Given the description of an element on the screen output the (x, y) to click on. 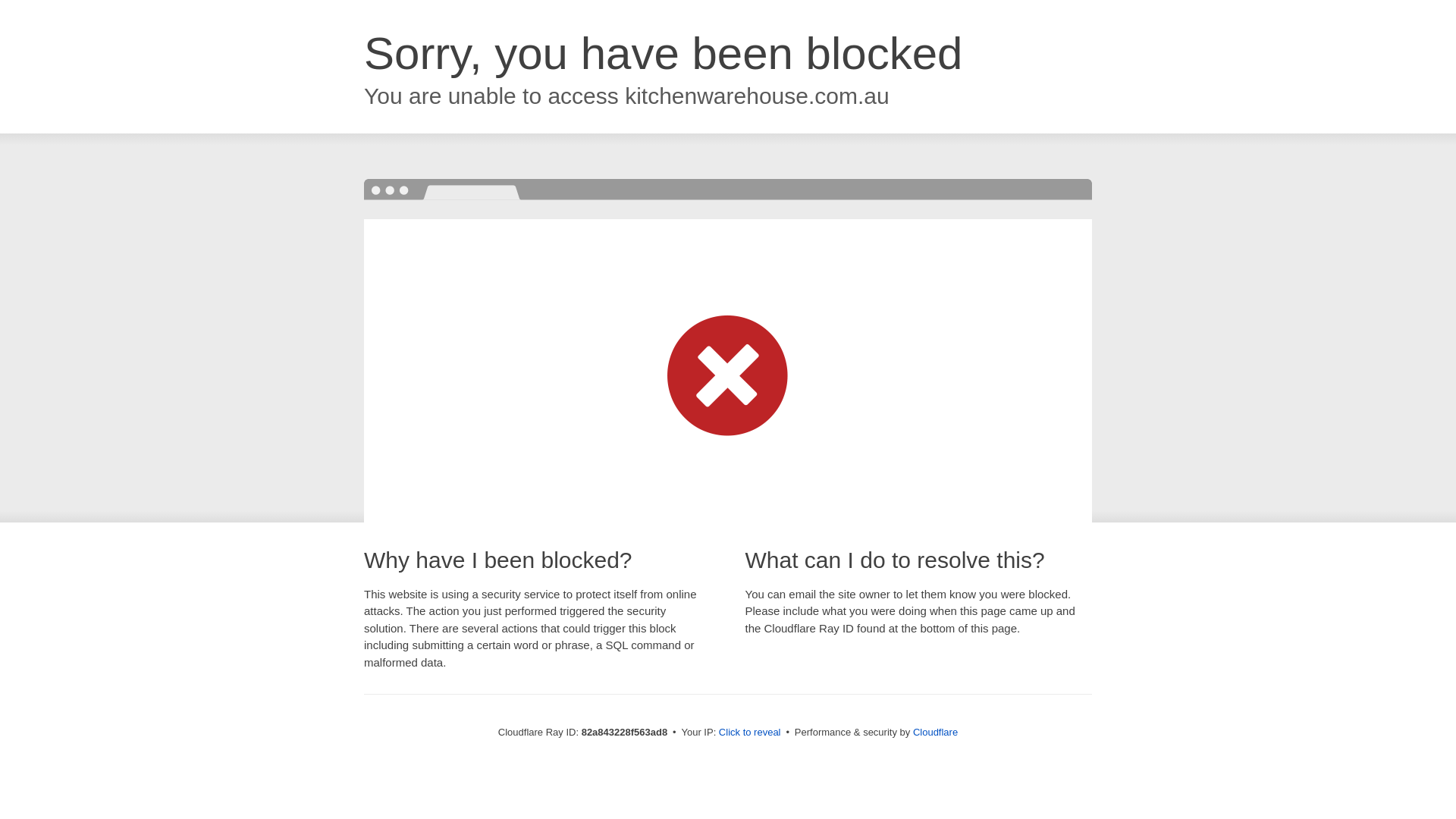
Click to reveal Element type: text (749, 732)
Cloudflare Element type: text (935, 731)
